Given the description of an element on the screen output the (x, y) to click on. 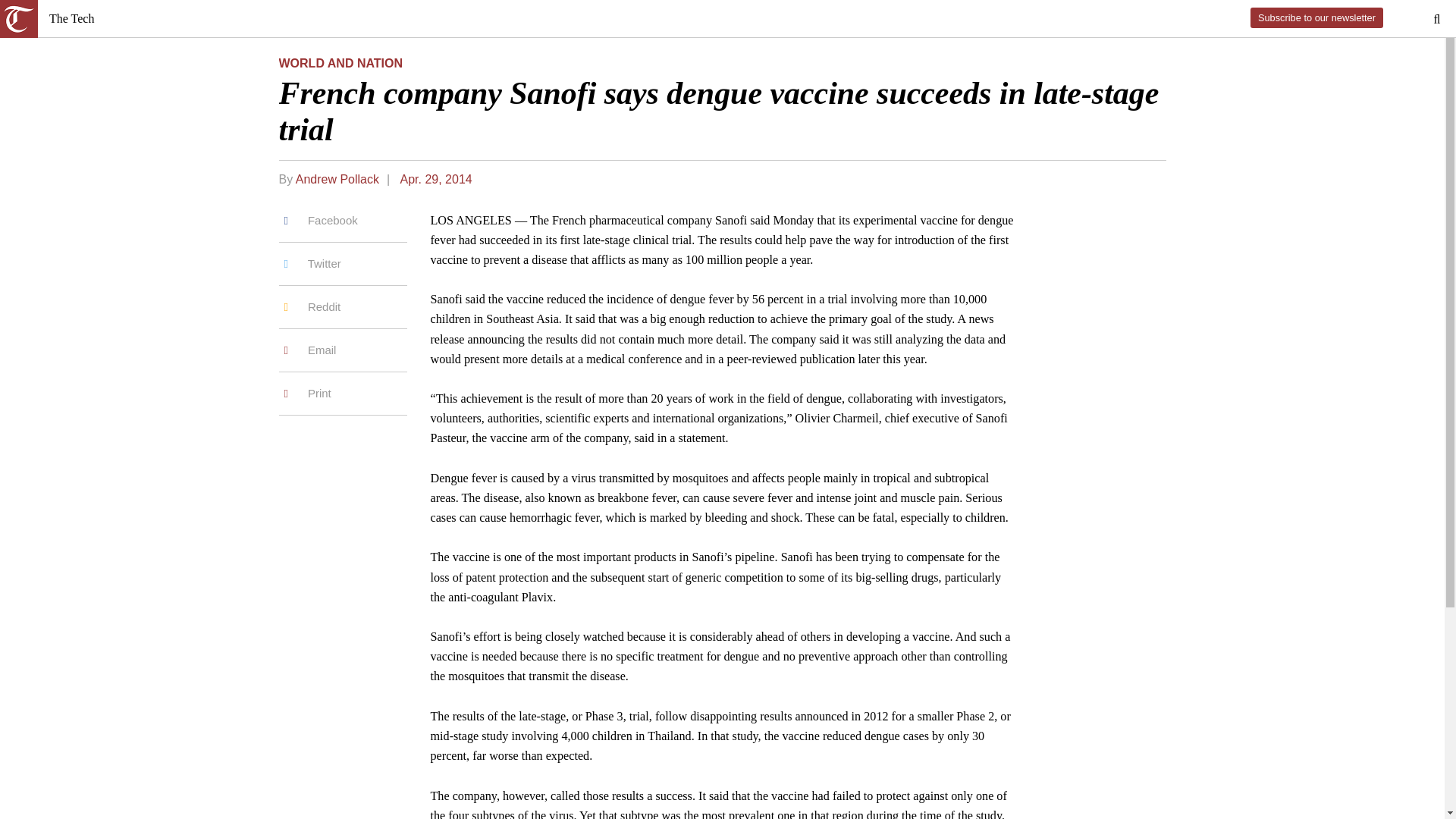
Apr. 29, 2014 (434, 178)
Subscribe to our newsletter (1316, 17)
Andrew Pollack (336, 178)
Twitter (343, 263)
WORLD AND NATION (341, 62)
Email (343, 350)
Print (343, 393)
Reddit (343, 307)
Facebook (343, 226)
